Given the description of an element on the screen output the (x, y) to click on. 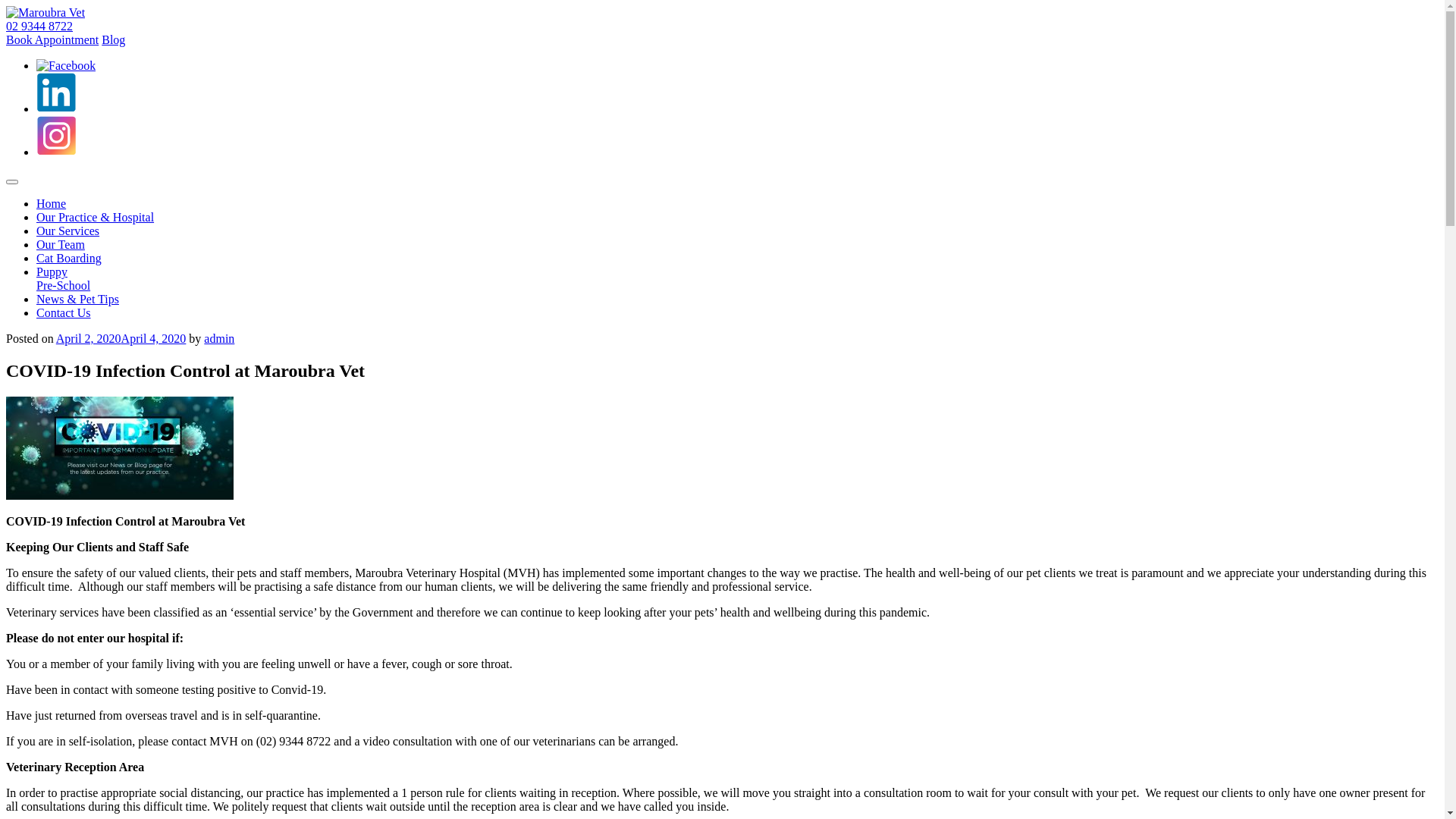
admin Element type: text (218, 338)
April 2, 2020April 4, 2020 Element type: text (121, 338)
Home Element type: text (50, 203)
Contact Us Element type: text (63, 312)
Our Practice & Hospital Element type: text (94, 216)
Our Services Element type: text (67, 230)
Blog Element type: text (113, 39)
Maroubra Vet Element type: hover (45, 12)
Instagram Element type: hover (56, 151)
Our Team Element type: text (60, 244)
News & Pet Tips Element type: text (77, 298)
Puppy
Pre-School Element type: text (63, 278)
Cat Boarding Element type: text (68, 257)
Linkedin Element type: hover (56, 108)
Book Appointment Element type: text (52, 39)
Facebook Element type: hover (65, 65)
02 9344 8722 Element type: text (39, 25)
